Given the description of an element on the screen output the (x, y) to click on. 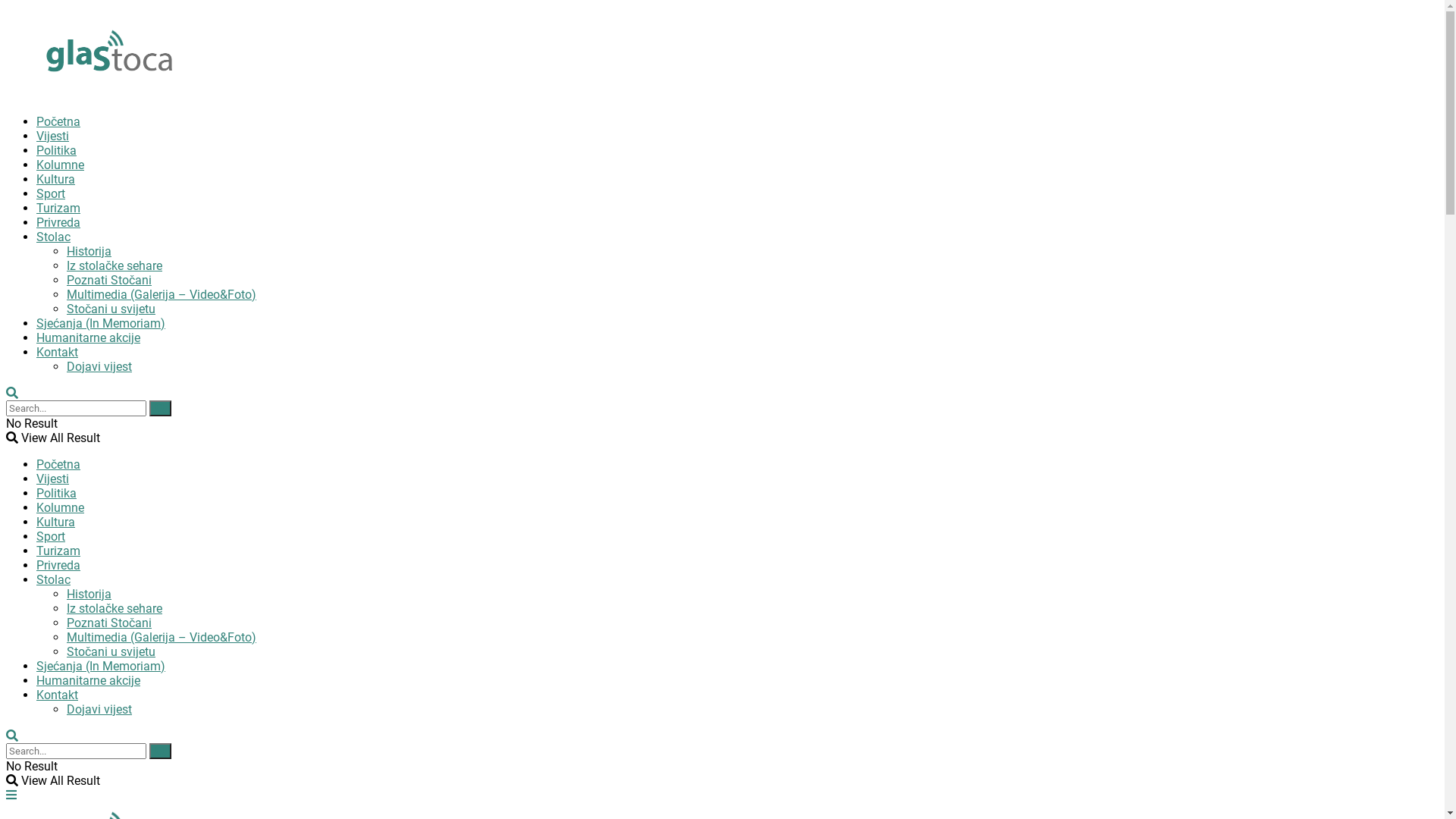
Dojavi vijest Element type: text (98, 709)
Privreda Element type: text (58, 565)
Politika Element type: text (56, 149)
Humanitarne akcije Element type: text (88, 337)
Dojavi vijest Element type: text (98, 366)
Kolumne Element type: text (60, 507)
Politika Element type: text (56, 492)
Turizam Element type: text (58, 207)
Kultura Element type: text (55, 521)
Sport Element type: text (50, 193)
Historija Element type: text (88, 251)
Kultura Element type: text (55, 178)
Stolac Element type: text (53, 236)
Privreda Element type: text (58, 222)
Sport Element type: text (50, 536)
Historija Element type: text (88, 593)
Vijesti Element type: text (52, 135)
Turizam Element type: text (58, 549)
Kolumne Element type: text (60, 164)
Vijesti Element type: text (52, 478)
Kontakt Element type: text (57, 351)
Humanitarne akcije Element type: text (88, 680)
Stolac Element type: text (53, 578)
Kontakt Element type: text (57, 694)
